Given the description of an element on the screen output the (x, y) to click on. 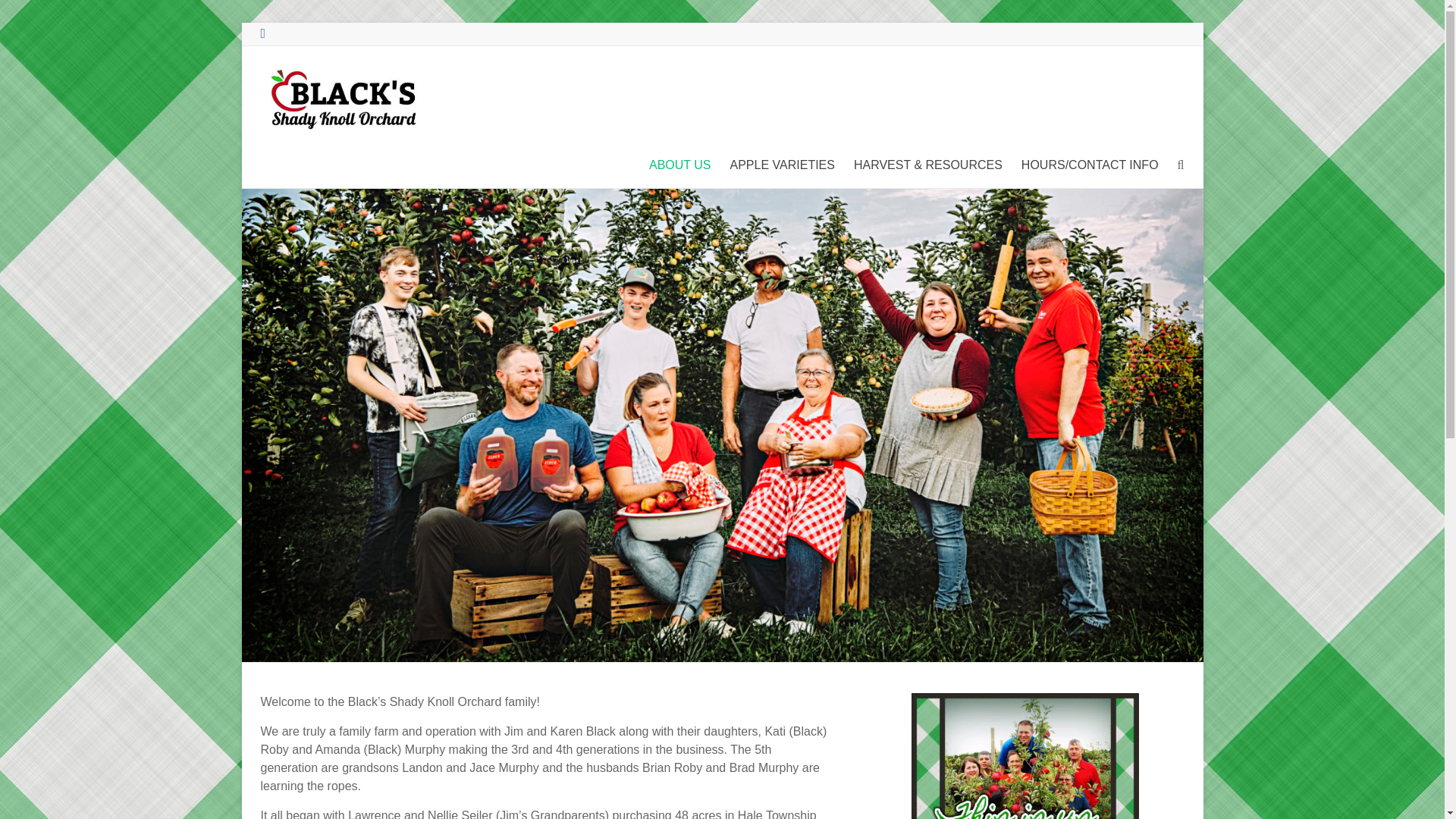
ABOUT US (680, 164)
APPLE VARIETIES (782, 164)
